Given the description of an element on the screen output the (x, y) to click on. 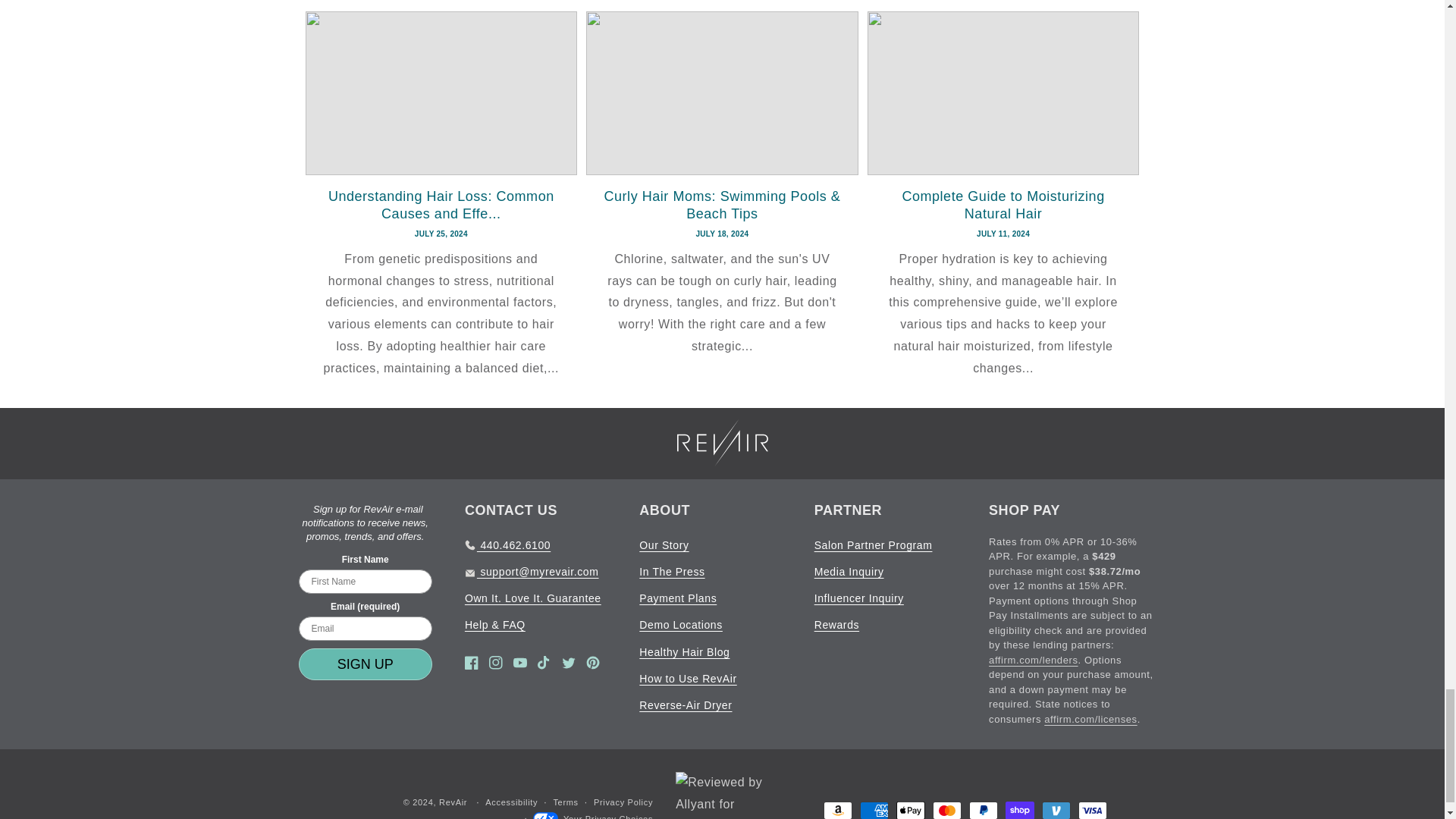
RevAir logo (722, 442)
